Given the description of an element on the screen output the (x, y) to click on. 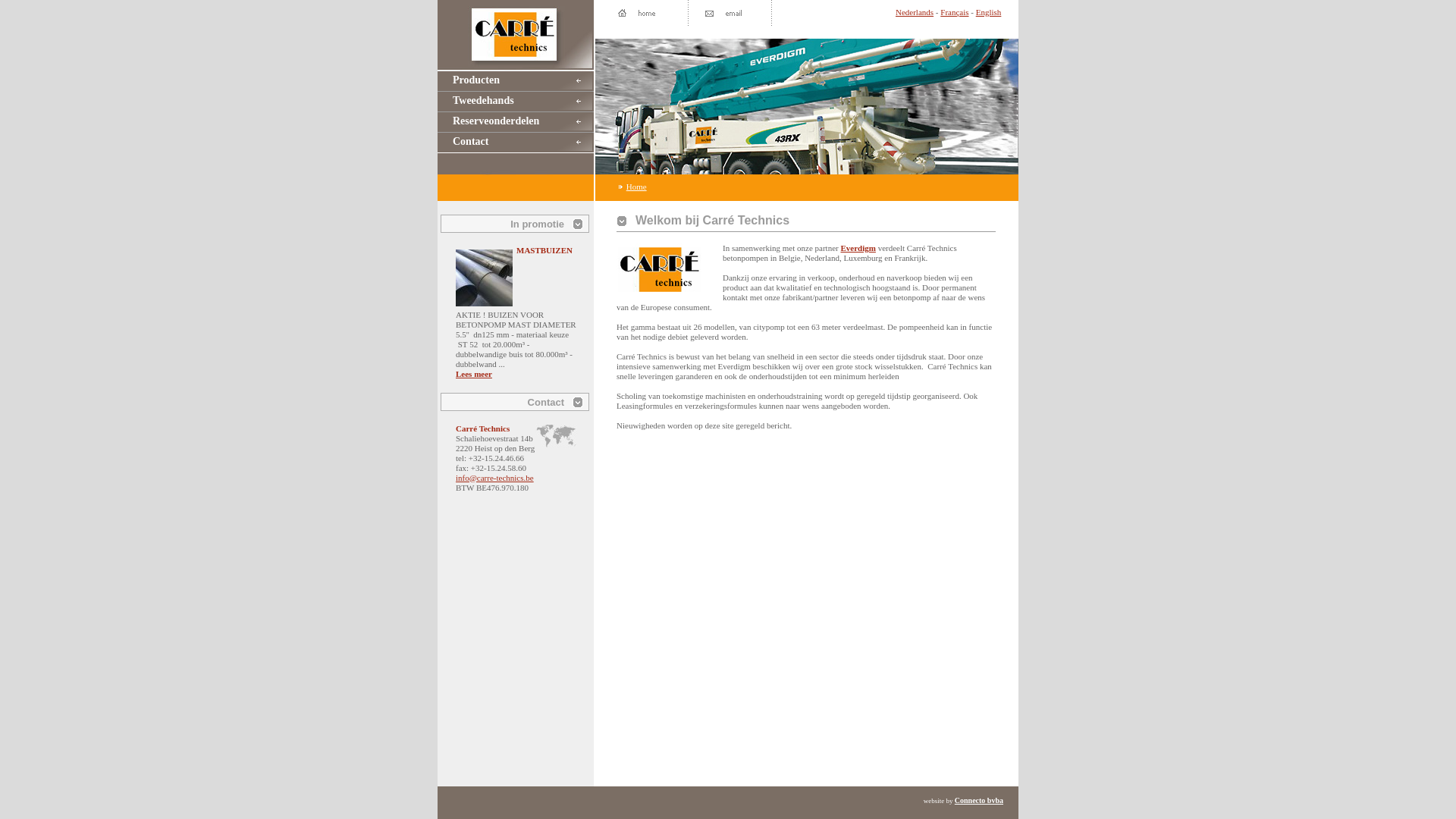
Connecto bvba Element type: text (978, 800)
English Element type: text (988, 11)
Reserveonderdelen Element type: text (515, 122)
Tweedehands Element type: text (515, 101)
Everdigm Element type: text (857, 247)
Home Element type: text (636, 186)
Nederlands Element type: text (914, 11)
info@carre-technics.be Element type: text (494, 477)
Contact Element type: text (515, 142)
Producten Element type: text (515, 81)
Lees meer Element type: text (473, 373)
